Given the description of an element on the screen output the (x, y) to click on. 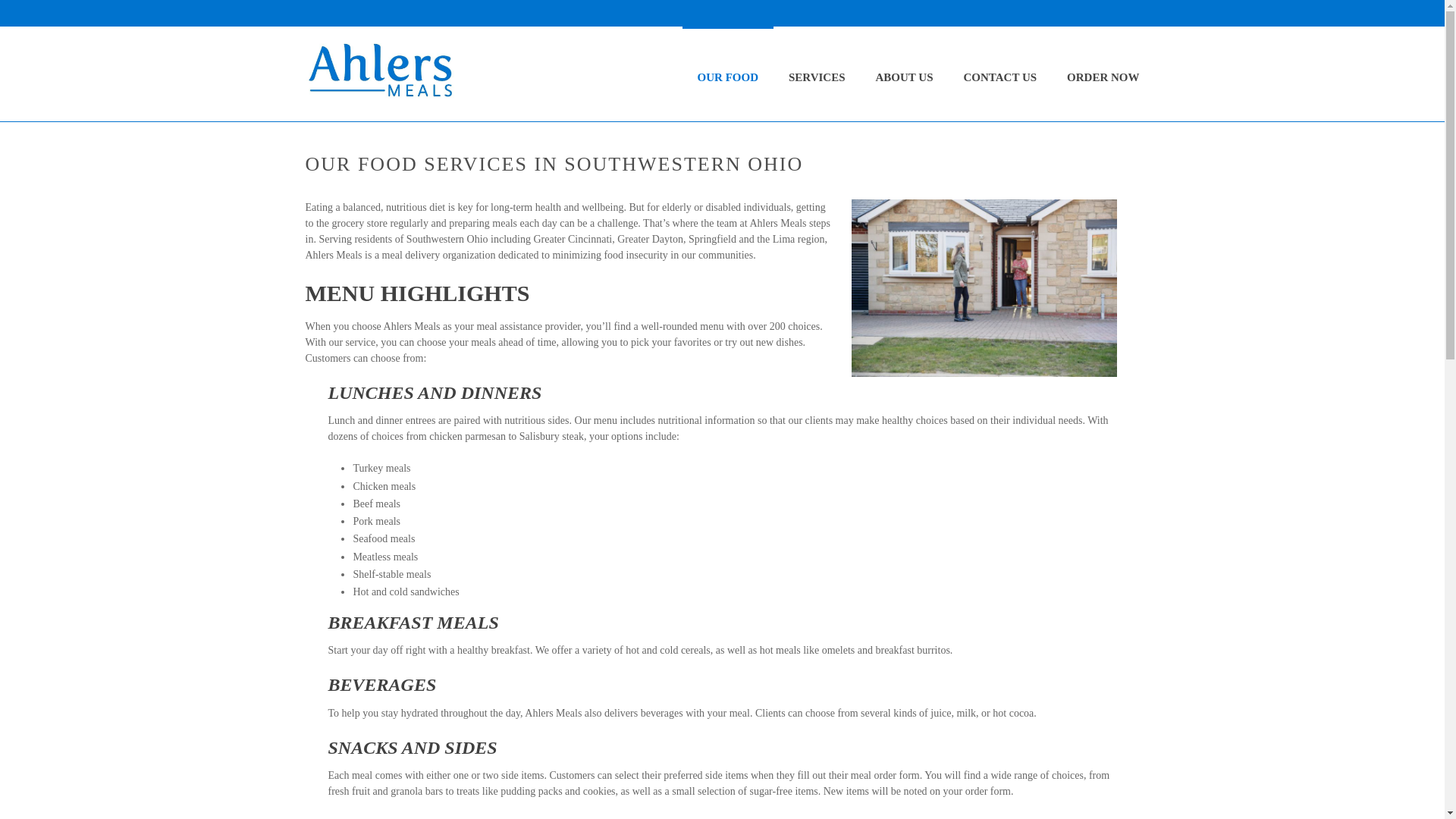
ABOUT US (904, 73)
OUR FOOD (727, 73)
SERVICES (816, 73)
CONTACT US (1000, 73)
SERVICES (816, 73)
ABOUT US (904, 73)
ORDER NOW (1102, 73)
ORDER NOW (1102, 73)
CONTACT US (1000, 73)
OUR FOOD (727, 73)
